Given the description of an element on the screen output the (x, y) to click on. 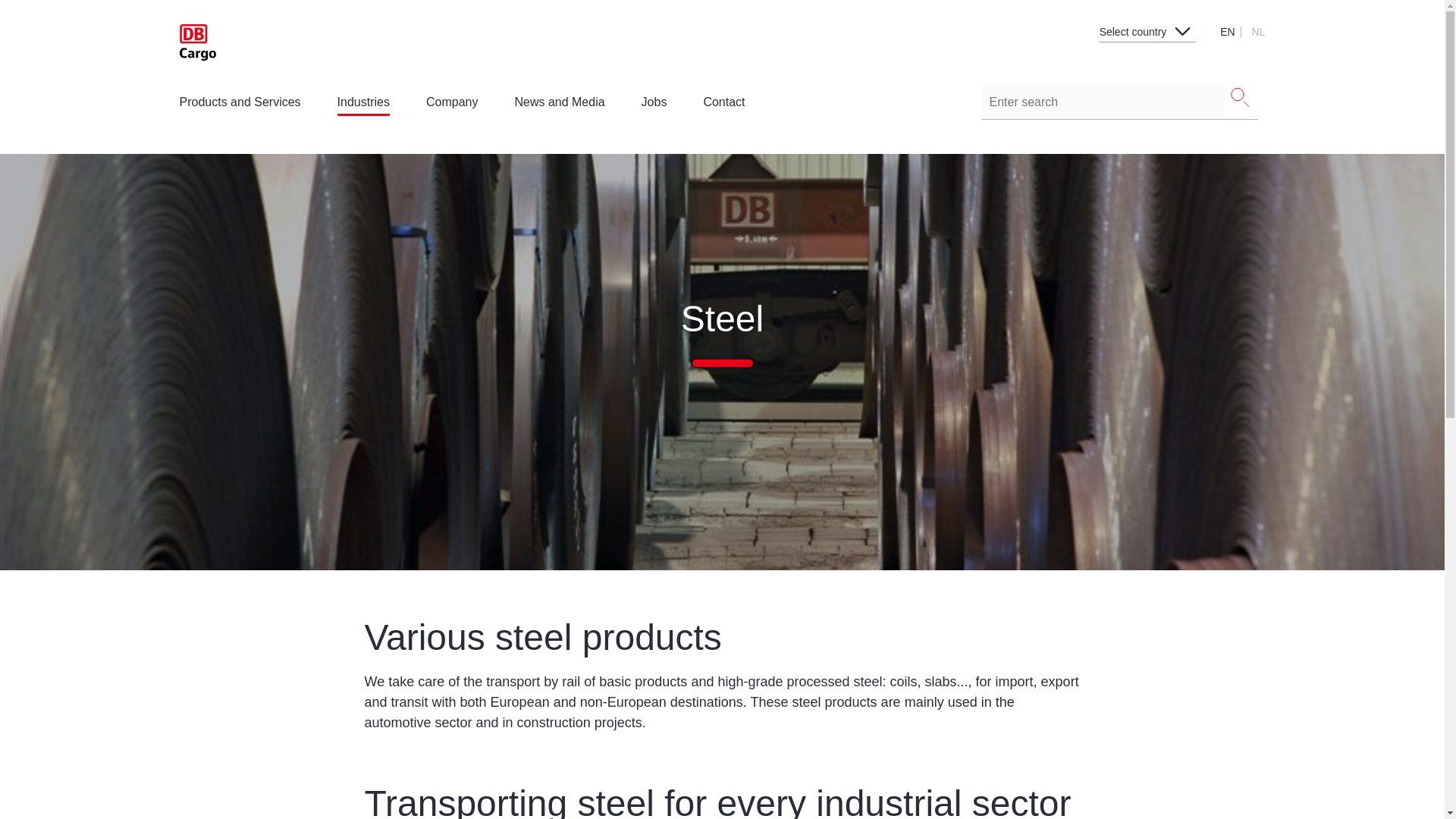
Company (451, 101)
News and Media (558, 105)
Products and Services (239, 105)
Industries (363, 105)
NL (1258, 31)
Contact (723, 101)
EN (1228, 31)
Select country (1147, 27)
Jobs (654, 101)
